Given the description of an element on the screen output the (x, y) to click on. 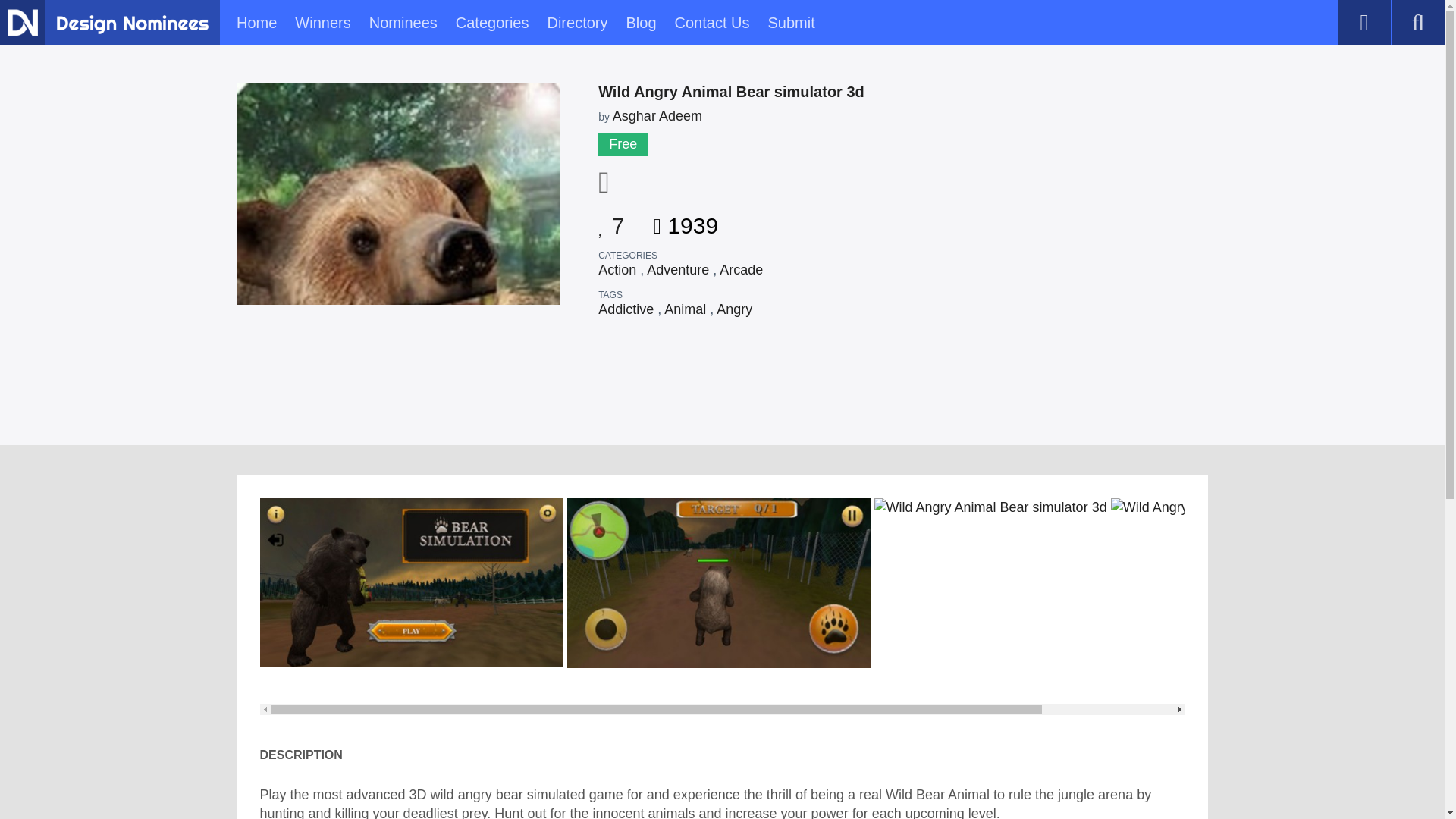
Action (617, 269)
Angry (734, 309)
Nominees (403, 22)
Addictive (625, 309)
Arcade (740, 269)
Adventure (677, 269)
Submit (790, 22)
Design Nominees (132, 24)
Animal (684, 309)
7 (611, 220)
Design Nominees (22, 22)
Directory (577, 22)
Winners (322, 22)
Categories (492, 22)
Contact Us (712, 22)
